Given the description of an element on the screen output the (x, y) to click on. 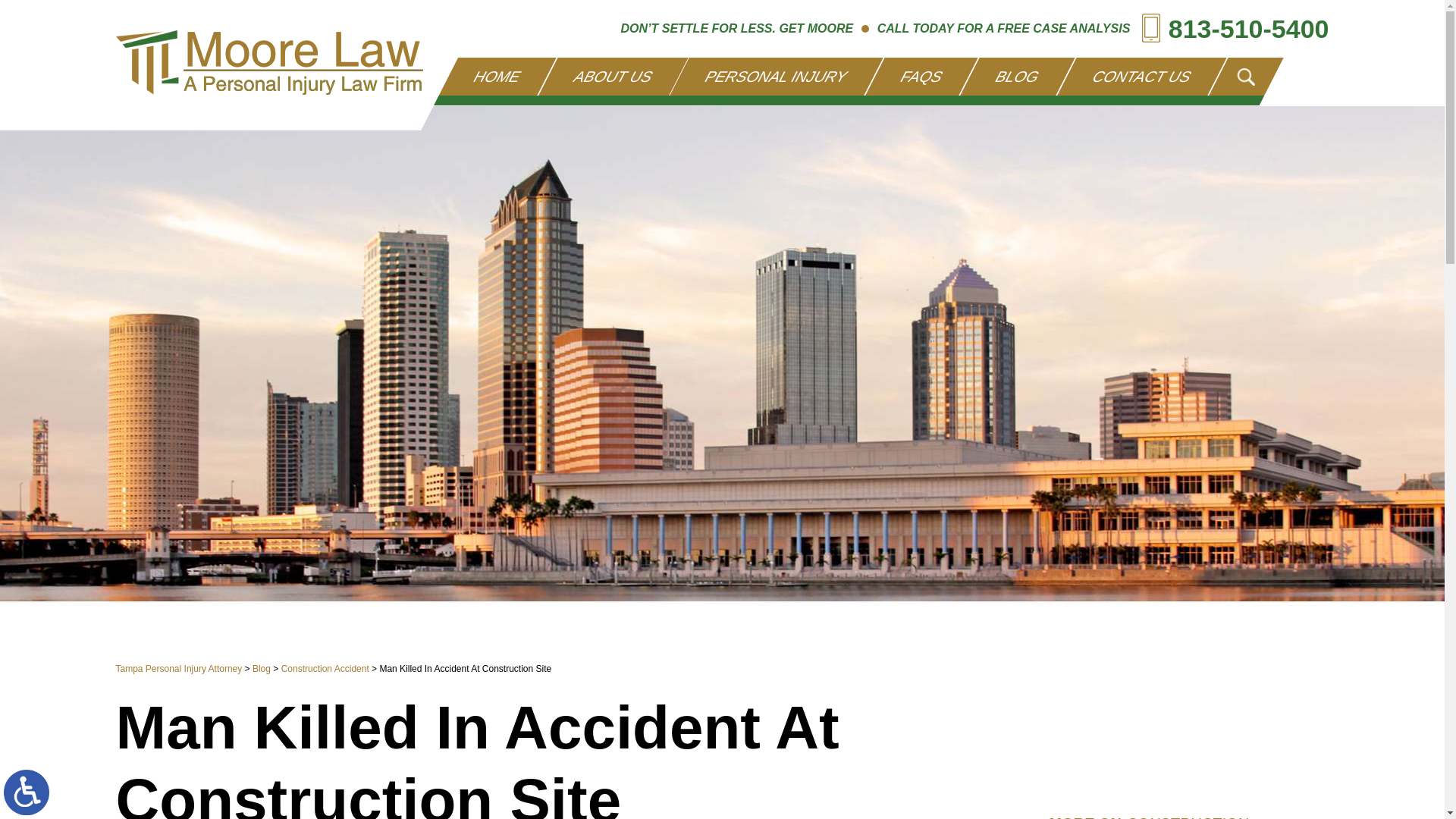
Switch to ADA Accessible Theme (26, 791)
PERSONAL INJURY (767, 76)
ABOUT US (603, 76)
Search (1246, 76)
813-510-5400 (1235, 22)
HOME (488, 76)
